Given the description of an element on the screen output the (x, y) to click on. 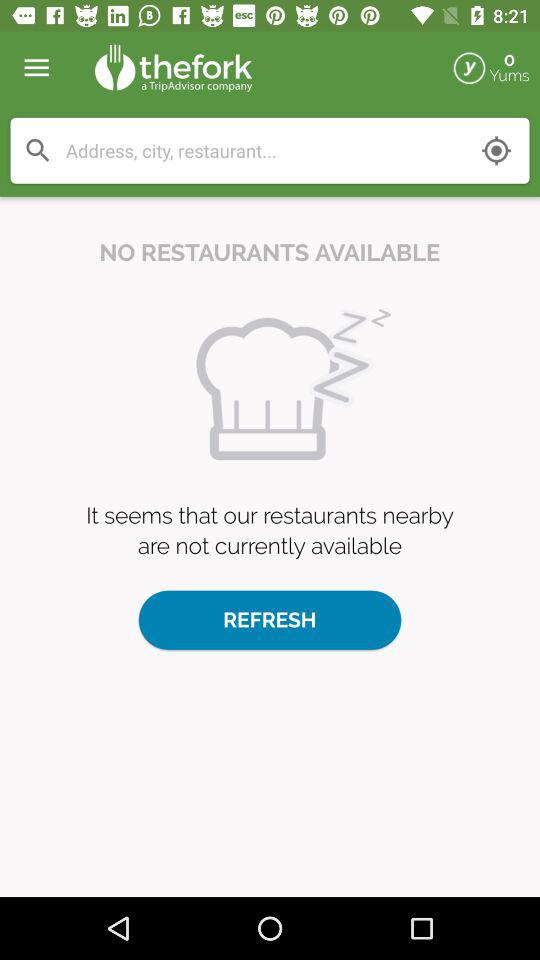
click on the search icon (37, 150)
select the refresh button (269, 620)
click the box which says addresscityrestaurant (269, 151)
